Given the description of an element on the screen output the (x, y) to click on. 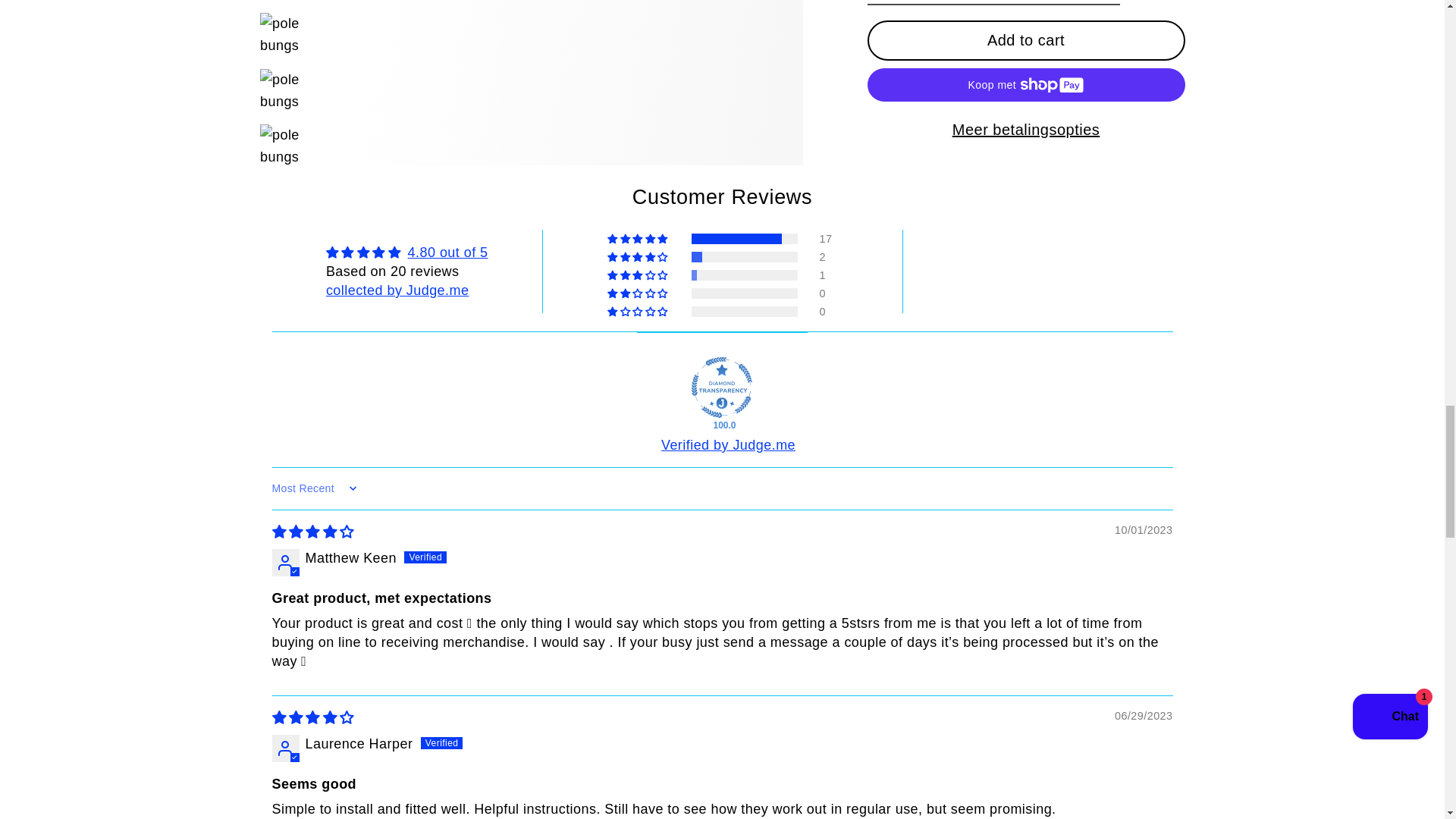
Verified by Judge.me (727, 444)
collected by Judge.me (397, 290)
4.80 out of 5 (447, 252)
100.0 (721, 387)
